Given the description of an element on the screen output the (x, y) to click on. 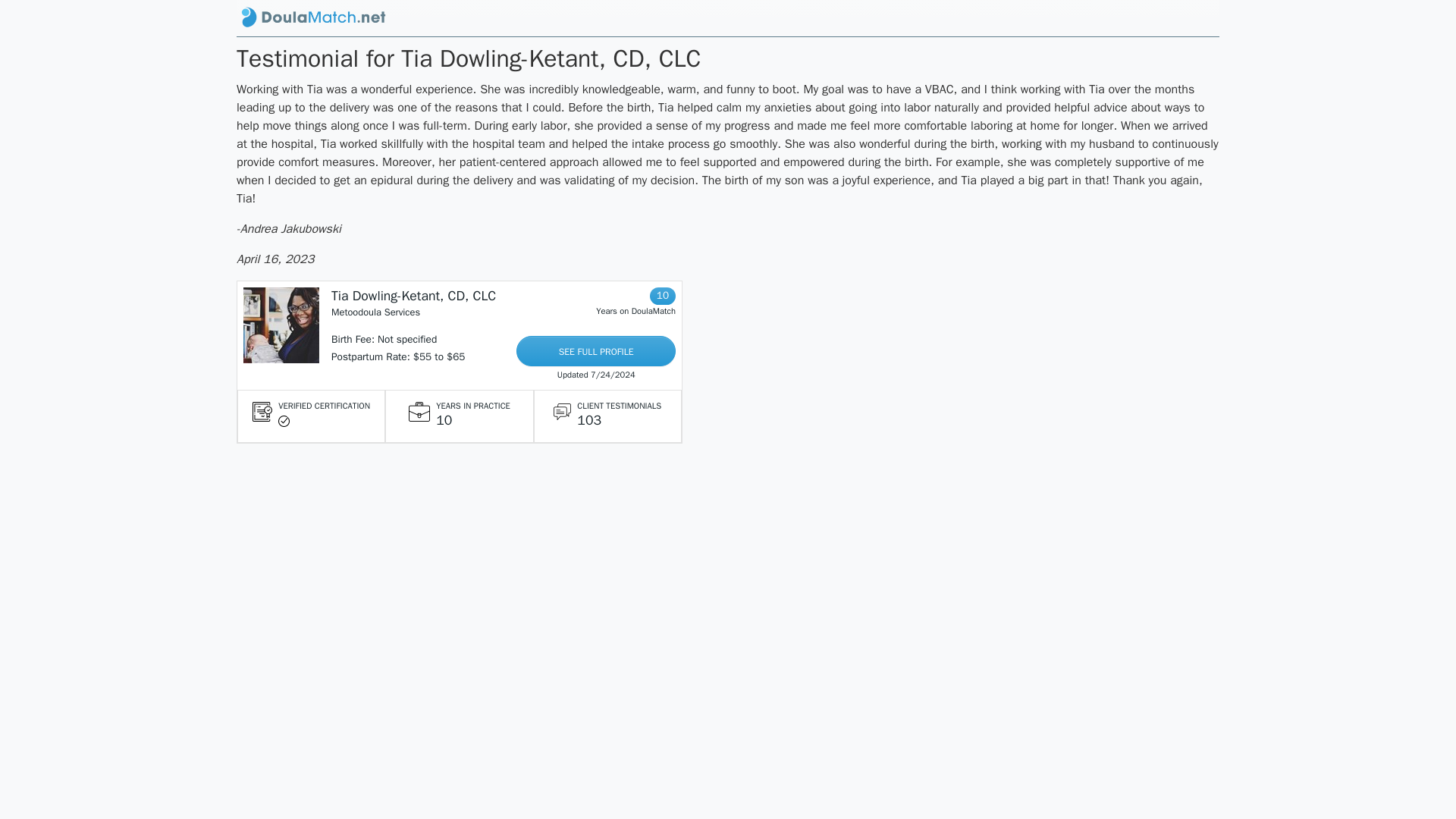
Tia Dowling-Ketant, CD, CLC (413, 295)
SEE FULL PROFILE (595, 350)
